Given the description of an element on the screen output the (x, y) to click on. 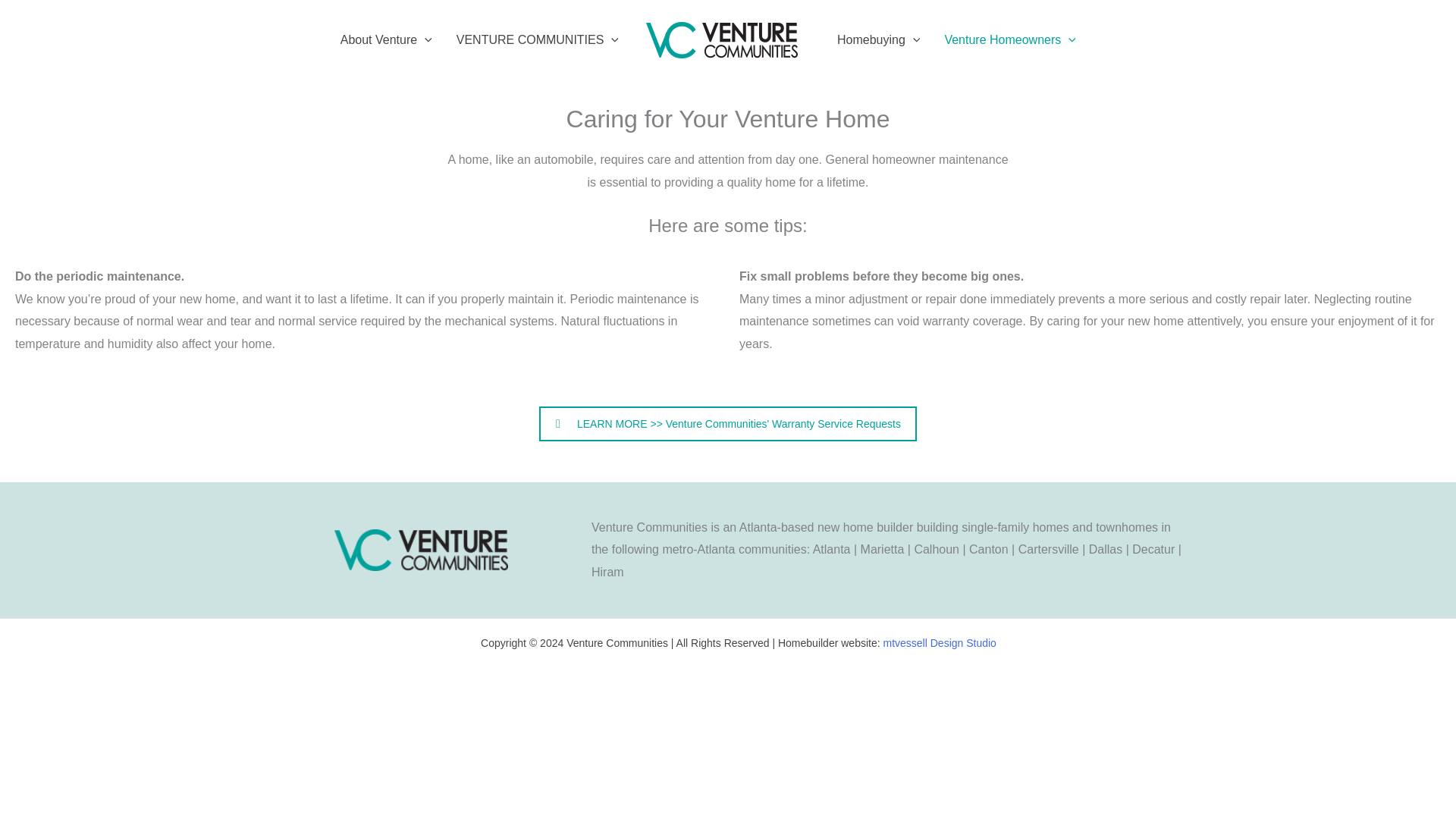
Warranty Service Requests (727, 423)
VENTURE COMMUNITIES (537, 40)
Homebuying (878, 40)
About Venture (386, 40)
Venture Homeowners (1009, 40)
